Given the description of an element on the screen output the (x, y) to click on. 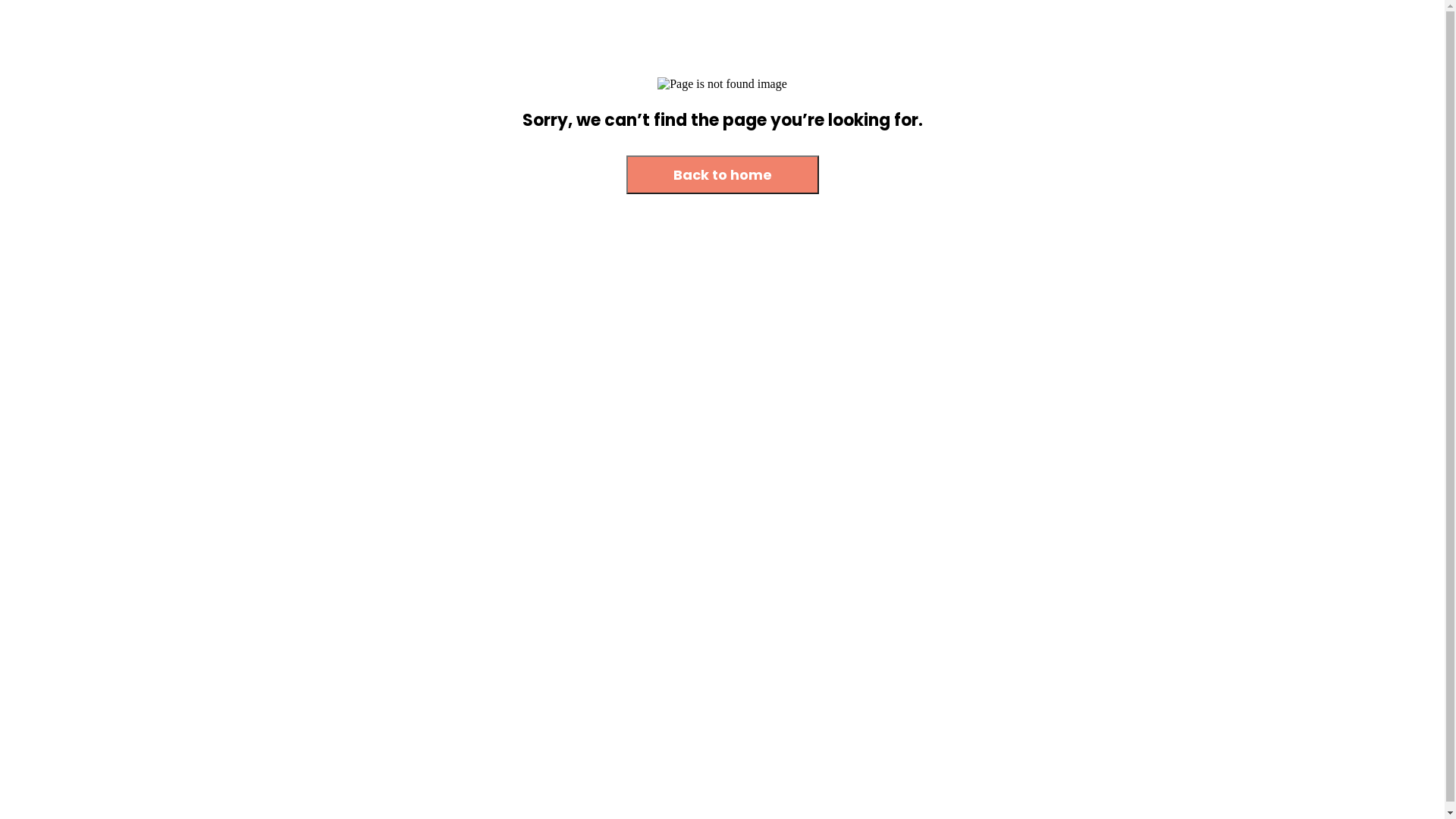
Back to home Element type: text (722, 175)
Back to home Element type: text (722, 174)
